Given the description of an element on the screen output the (x, y) to click on. 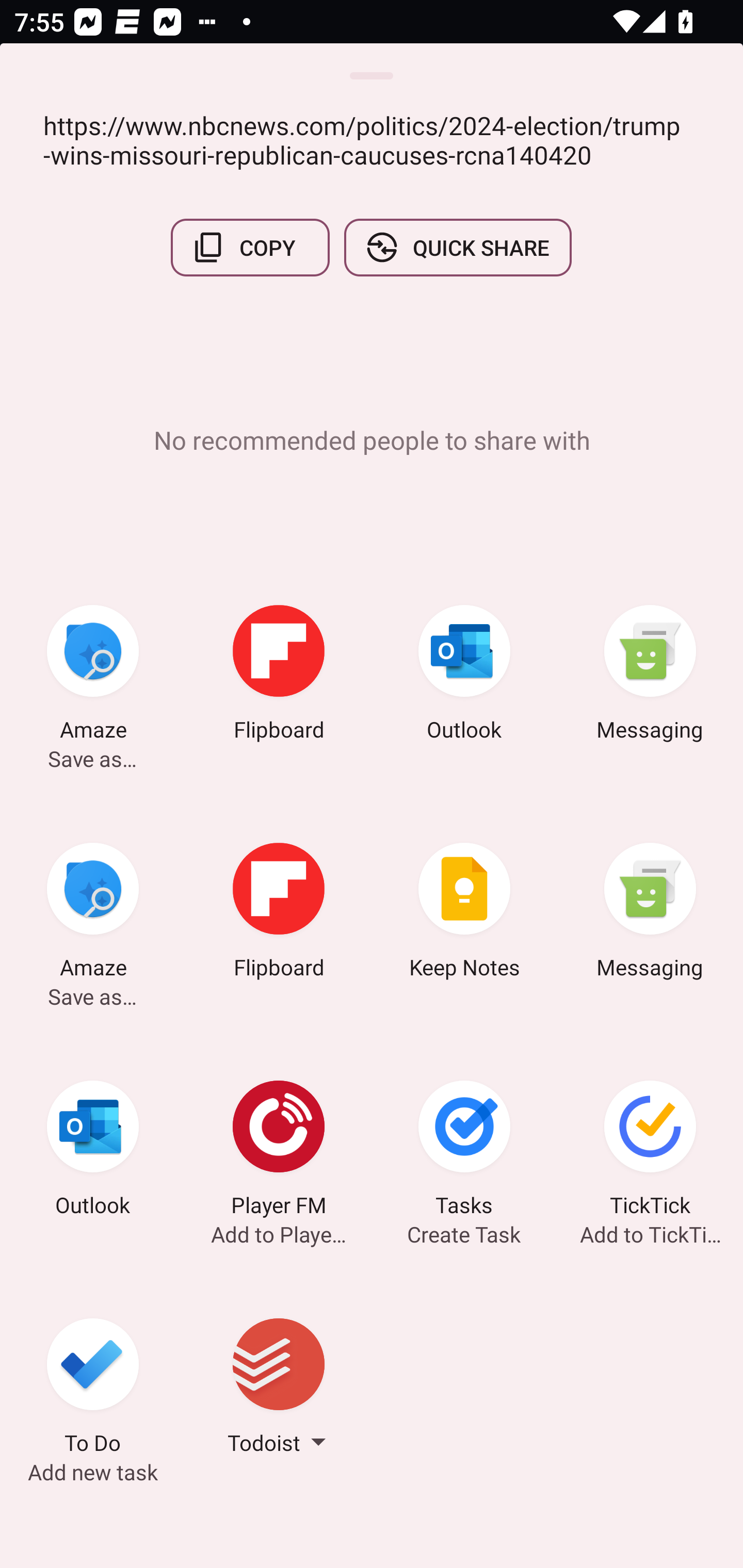
COPY (249, 247)
QUICK SHARE (457, 247)
Amaze Save as… (92, 675)
Flipboard (278, 675)
Outlook (464, 675)
Messaging (650, 675)
Amaze Save as… (92, 913)
Flipboard (278, 913)
Keep Notes (464, 913)
Messaging (650, 913)
Outlook (92, 1151)
Player FM Add to Player FM (278, 1151)
Tasks Create Task (464, 1151)
TickTick Add to TickTick (650, 1151)
To Do Add new task (92, 1389)
Todoist (278, 1389)
